Given the description of an element on the screen output the (x, y) to click on. 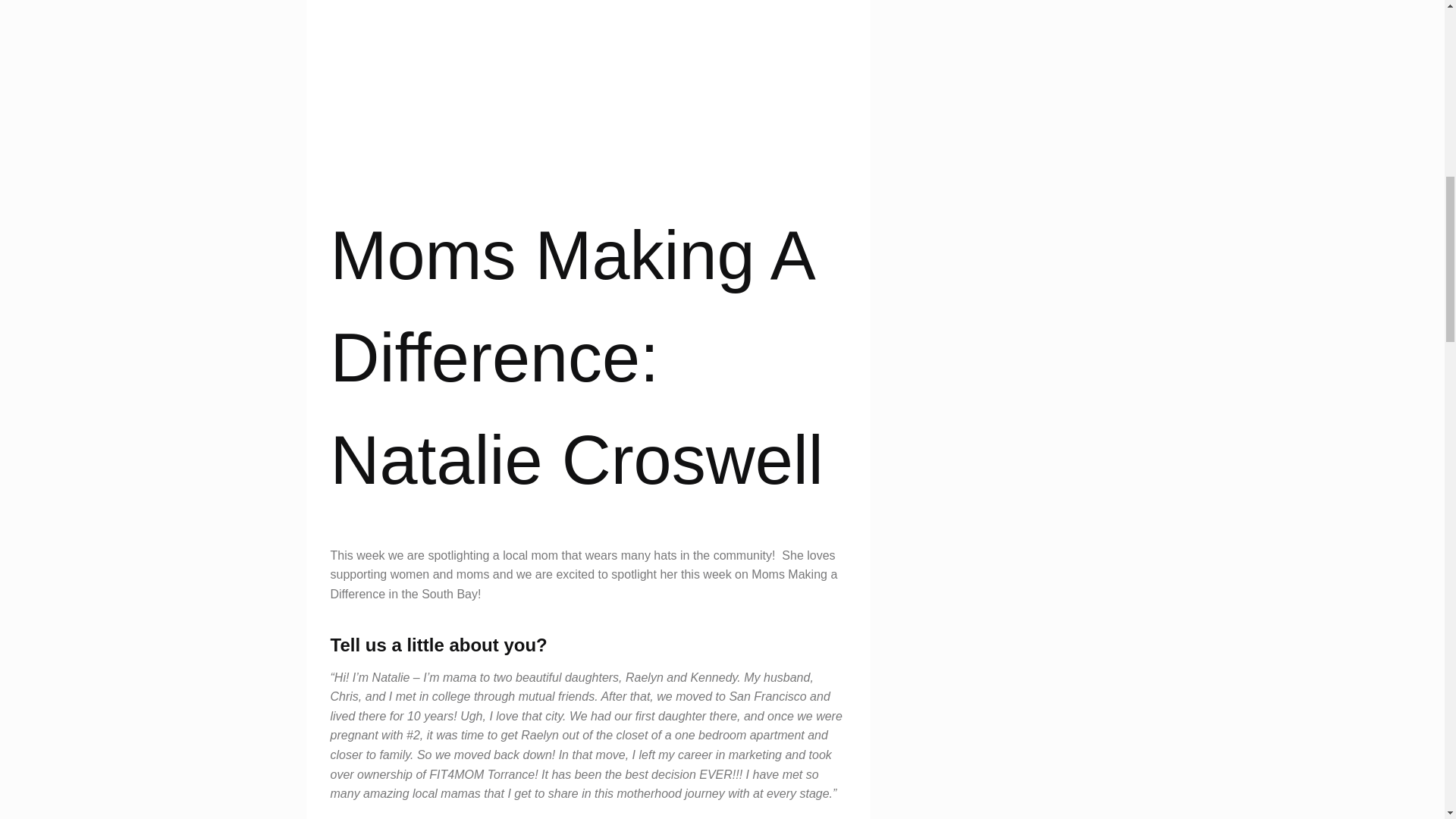
Moms Making A Difference: Natalie Croswell 1 (587, 51)
